Given the description of an element on the screen output the (x, y) to click on. 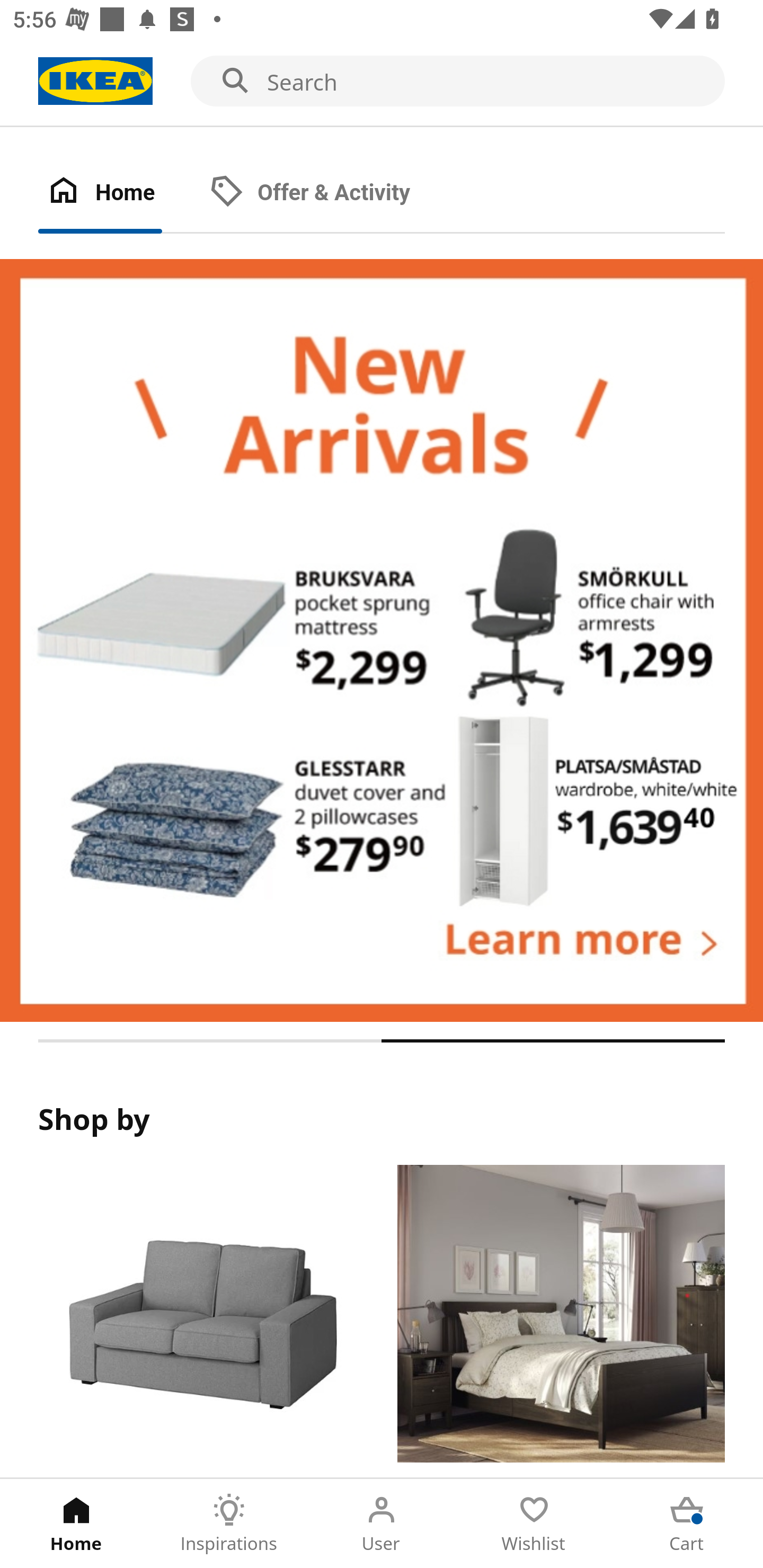
Search (381, 81)
Home
Tab 1 of 2 (118, 192)
Offer & Activity
Tab 2 of 2 (327, 192)
Products (201, 1321)
Rooms (560, 1321)
Home
Tab 1 of 5 (76, 1522)
Inspirations
Tab 2 of 5 (228, 1522)
User
Tab 3 of 5 (381, 1522)
Wishlist
Tab 4 of 5 (533, 1522)
Cart
Tab 5 of 5 (686, 1522)
